Given the description of an element on the screen output the (x, y) to click on. 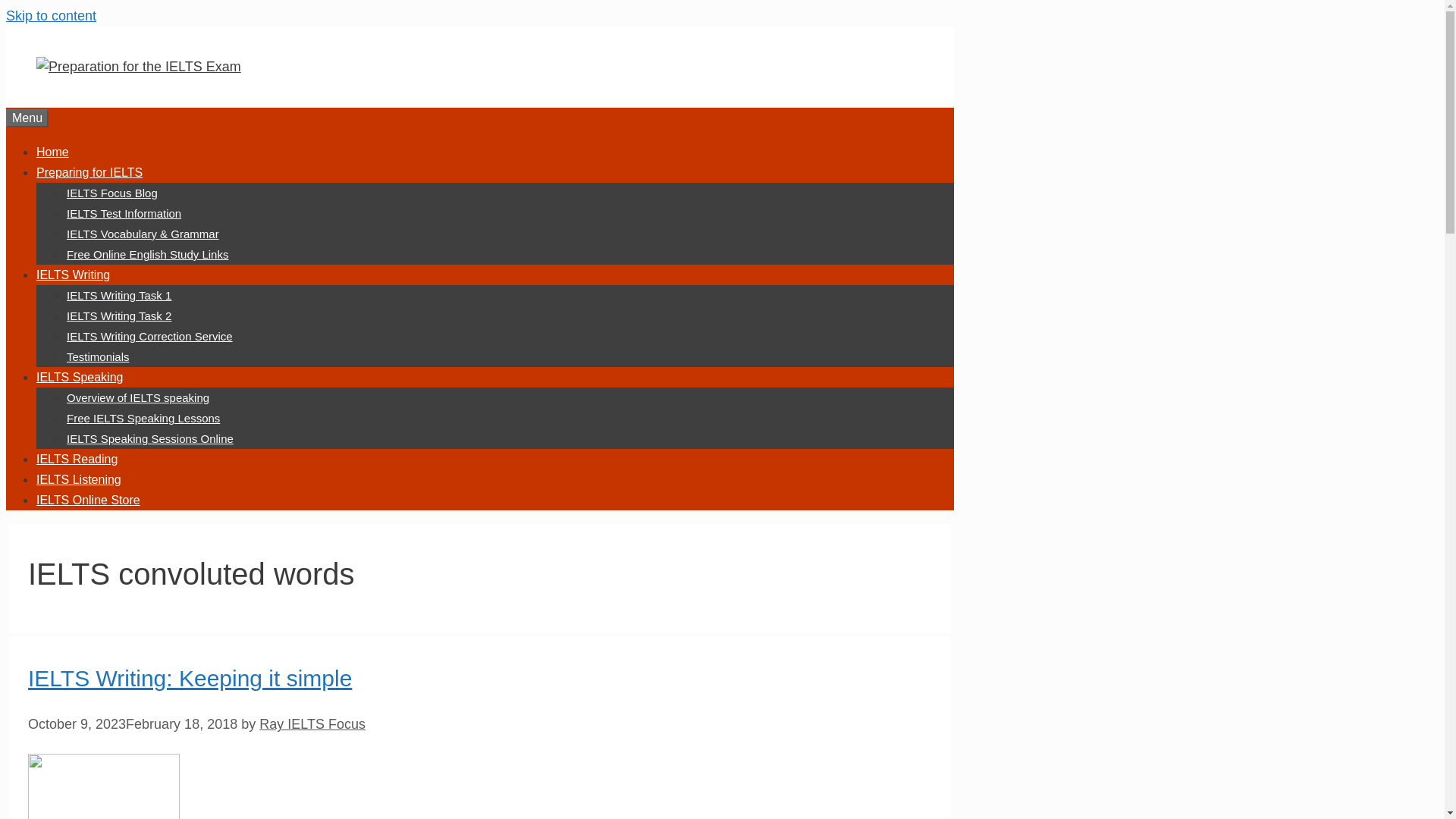
Testimonials (97, 356)
Overview of IELTS speaking (137, 397)
Skip to content (50, 15)
Free Online English Study Links (147, 254)
IELTS Reading (76, 459)
IELTS Speaking Sessions Online (149, 438)
Ray IELTS Focus (312, 724)
Preparing for IELTS (89, 172)
Free IELTS Speaking Lessons (142, 418)
Home (52, 151)
IELTS Writing Task 1 (118, 295)
IELTS Writing: Keeping it simple (189, 678)
IELTS Speaking (79, 377)
Skip to content (50, 15)
IELTS Online Store (87, 499)
